Given the description of an element on the screen output the (x, y) to click on. 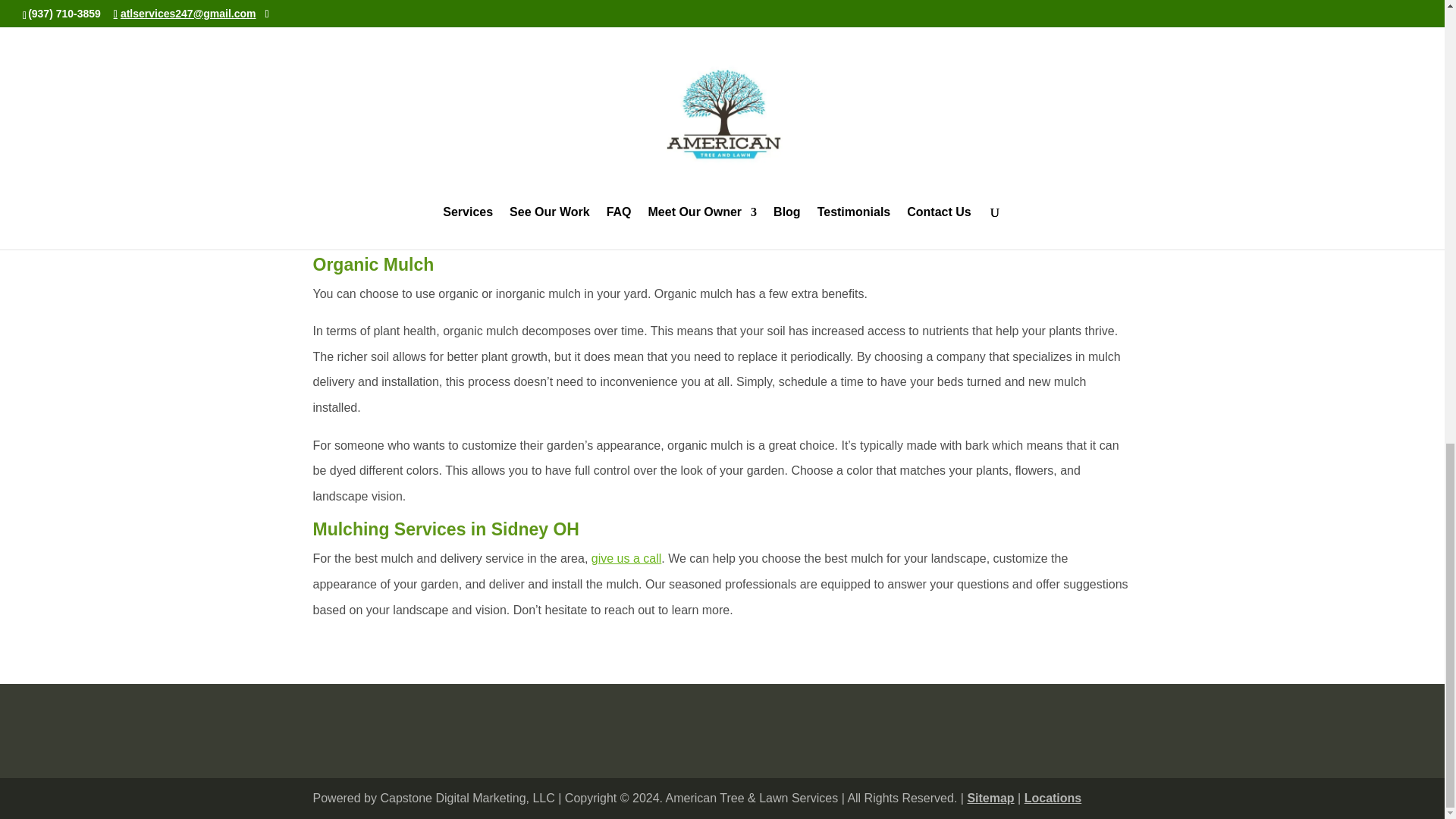
Our professional landscapers (697, 11)
give us a call (626, 558)
Locations (1053, 797)
Sitemap (989, 797)
